Given the description of an element on the screen output the (x, y) to click on. 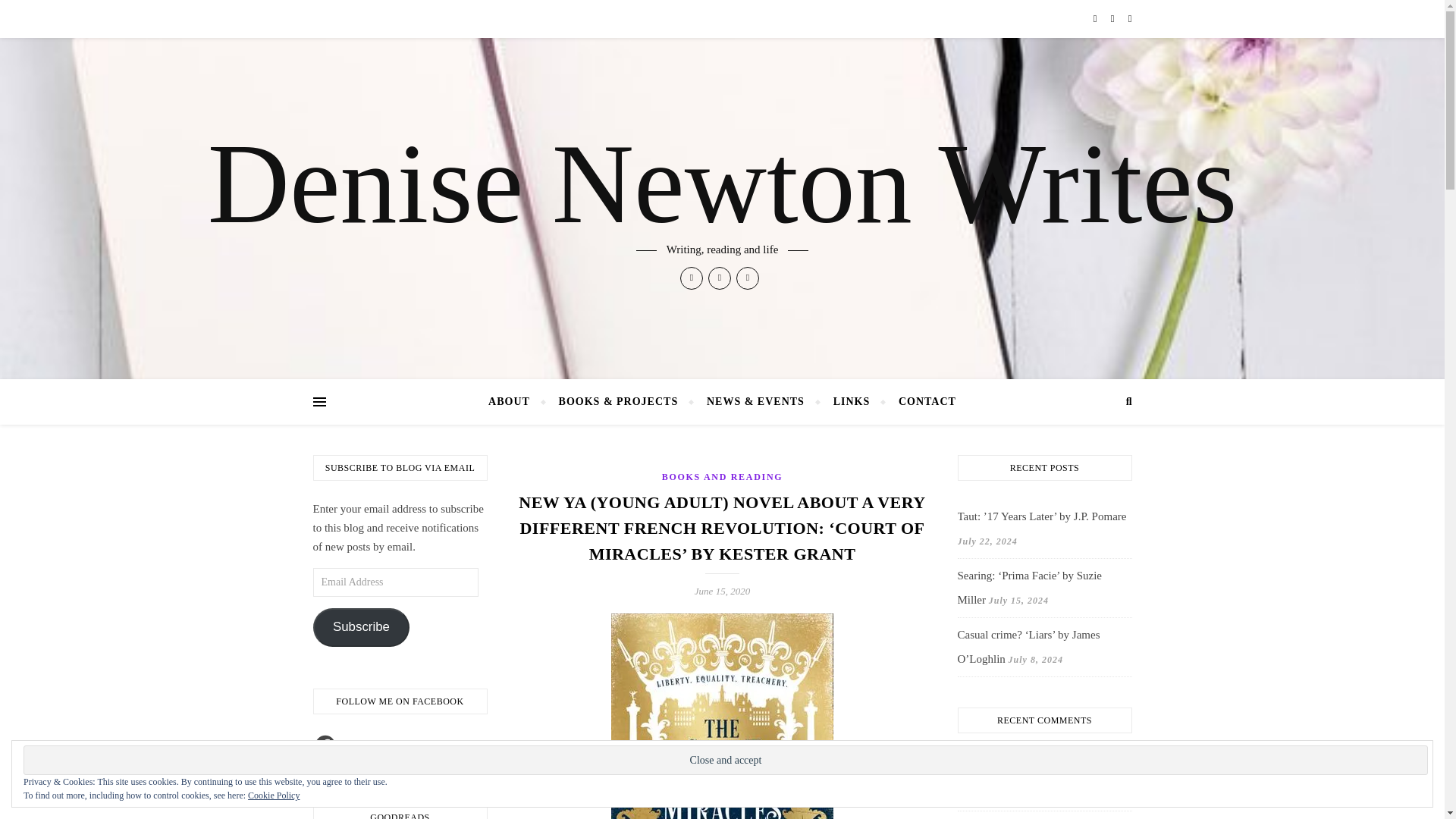
ABOUT (515, 402)
CONTACT (920, 402)
Close and accept (725, 759)
LINKS (852, 402)
Subscribe (361, 627)
Facebook (324, 744)
